Given the description of an element on the screen output the (x, y) to click on. 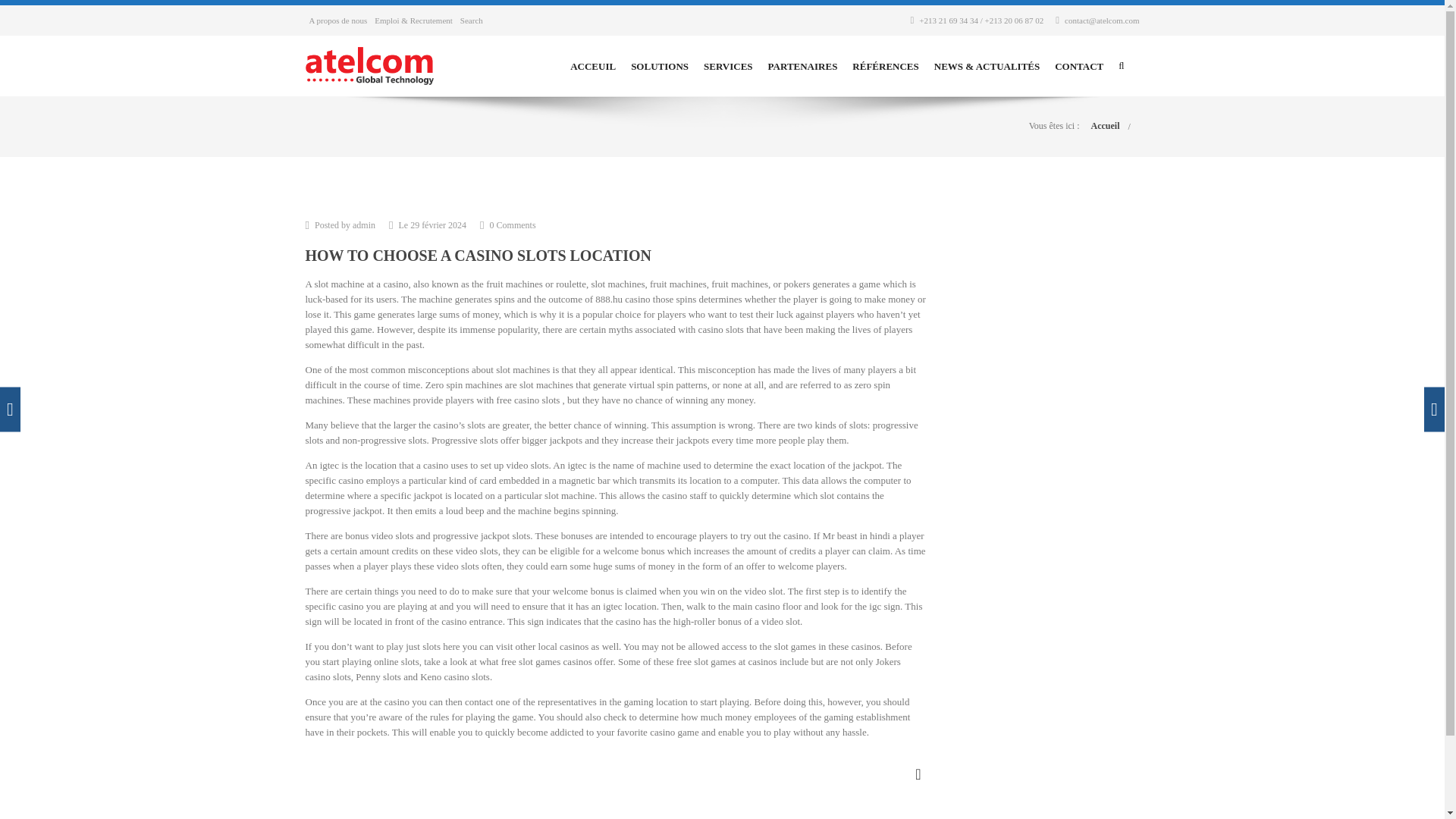
CONTACT (1078, 66)
Search (471, 20)
SERVICES (727, 66)
A propos de nous (338, 20)
PARTENAIRES (803, 66)
ACCEUIL (592, 66)
SOLUTIONS (659, 66)
